Given the description of an element on the screen output the (x, y) to click on. 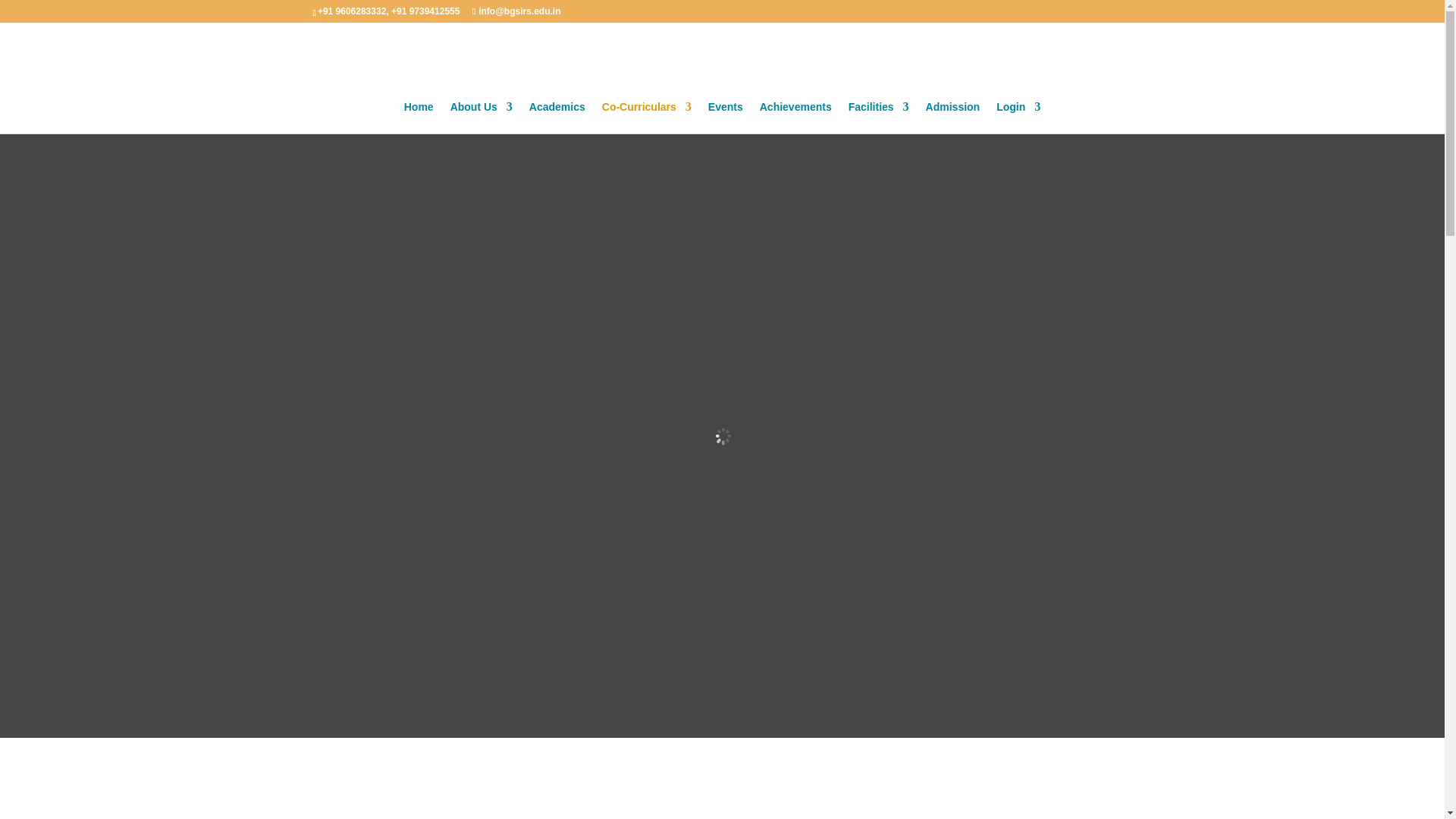
Home (418, 117)
Co-Curriculars (646, 117)
Academics (557, 117)
Facilities (878, 117)
Admission (952, 117)
Login (1018, 117)
Achievements (795, 117)
Events (724, 117)
About Us (480, 117)
